Given the description of an element on the screen output the (x, y) to click on. 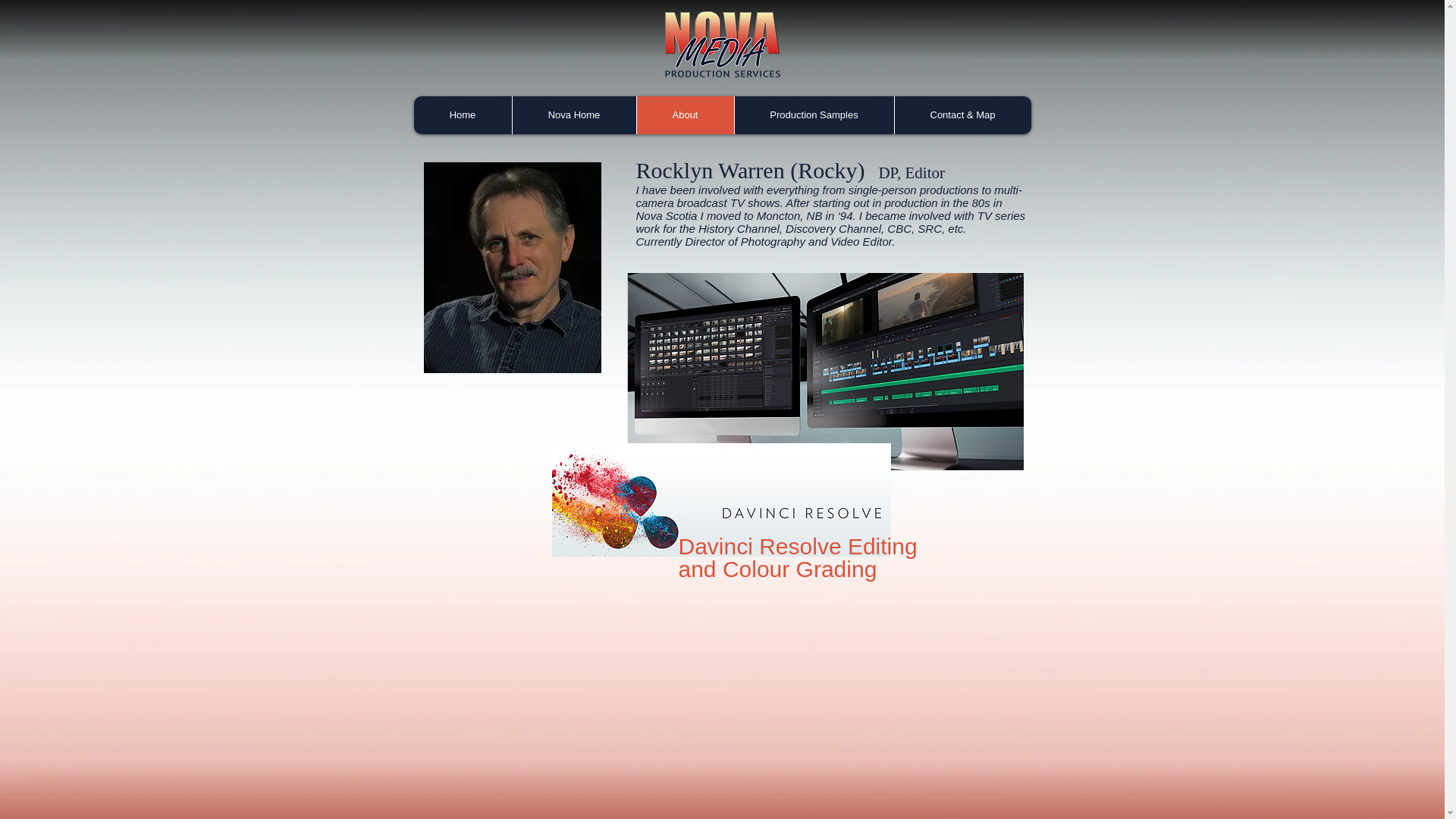
Nova Home (572, 115)
Production Samples (813, 115)
NOVA mps Logo-Colour.png (721, 48)
About (683, 115)
Home (462, 115)
